Given the description of an element on the screen output the (x, y) to click on. 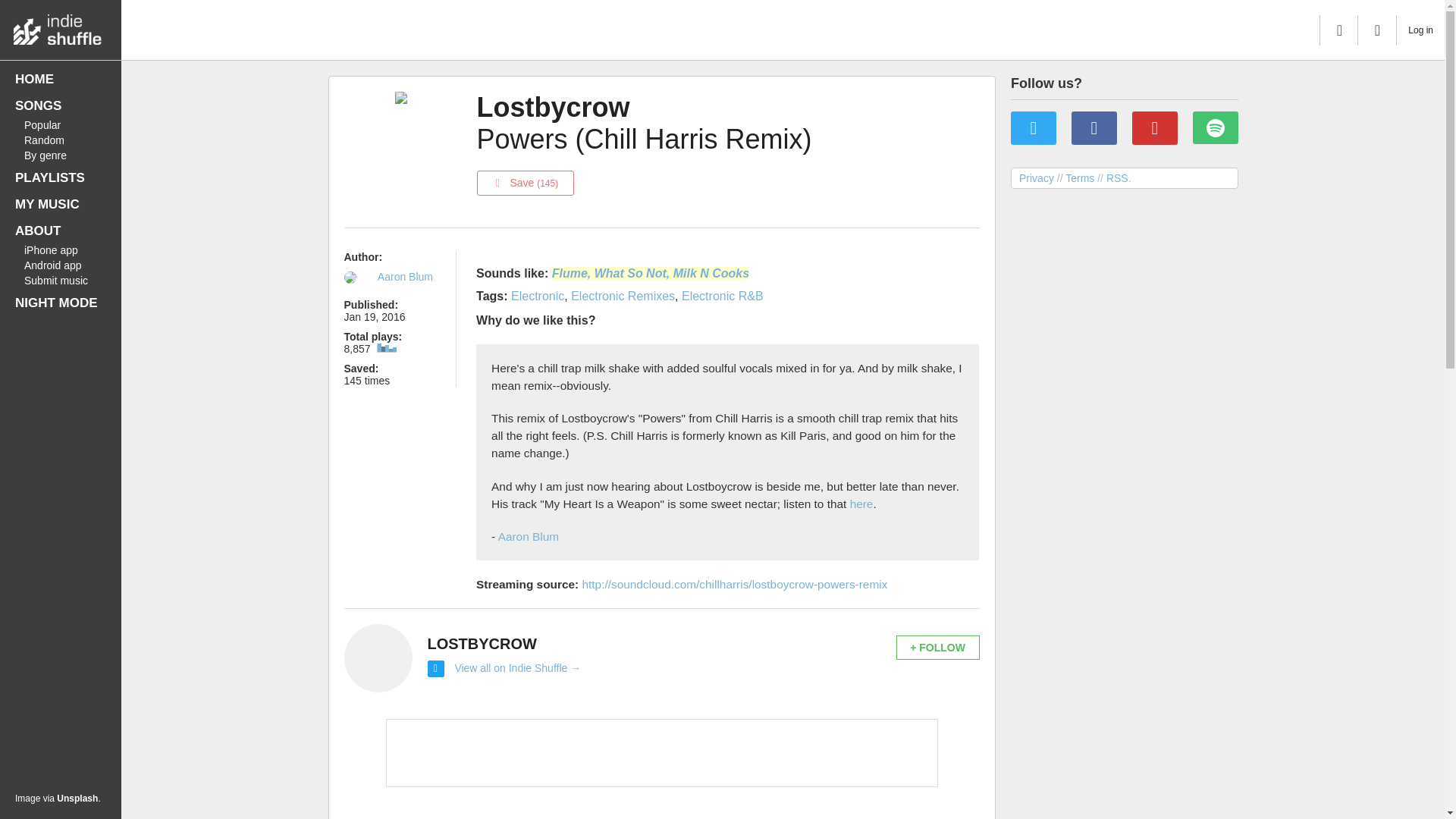
Unsplash (76, 798)
Submit Music (61, 280)
Indie Shuffle Logo (60, 26)
Popular Songs (61, 124)
Unsplash (76, 798)
Spotify (1214, 127)
PLAYLISTS (60, 178)
Homepage (60, 78)
About (60, 231)
Electronic Songs (537, 295)
Submit music (61, 280)
ABOUT (60, 231)
MY MUSIC (60, 204)
Indie Genres (61, 155)
Milk N Cooks (710, 273)
